Given the description of an element on the screen output the (x, y) to click on. 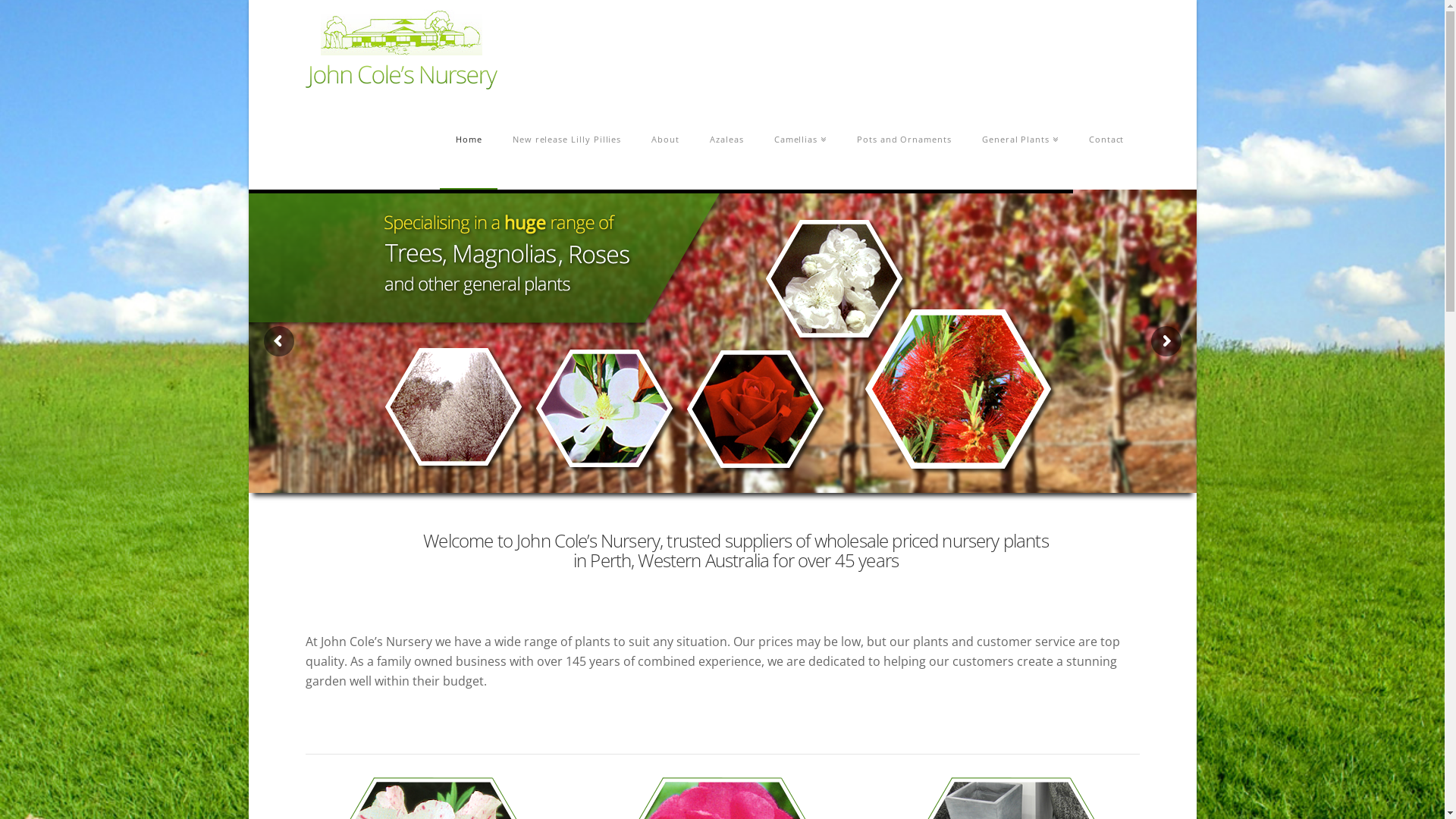
Pots and Ornaments Element type: text (903, 138)
Home Element type: text (468, 138)
Camellias Element type: text (800, 138)
Contact Element type: text (1106, 138)
New release Lilly Pillies Element type: text (566, 138)
General Plants Element type: text (1019, 138)
About Element type: text (665, 138)
Retail Garden Nursery in Banjup, Western Australia Element type: hover (400, 49)
Azaleas Element type: text (726, 138)
